Given the description of an element on the screen output the (x, y) to click on. 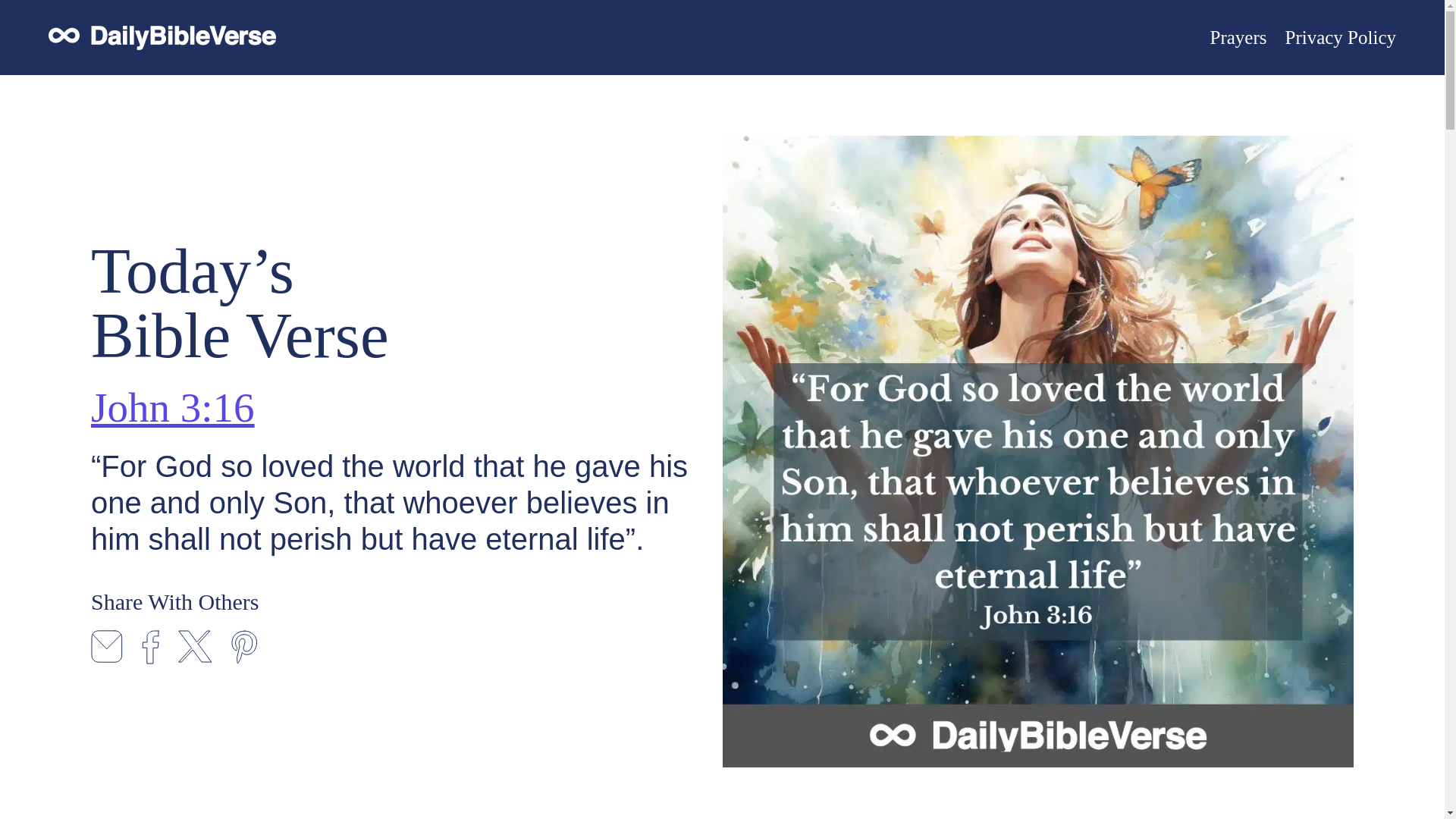
Prayers (1237, 37)
Privacy Policy (1340, 37)
John 3:16 (171, 406)
